Given the description of an element on the screen output the (x, y) to click on. 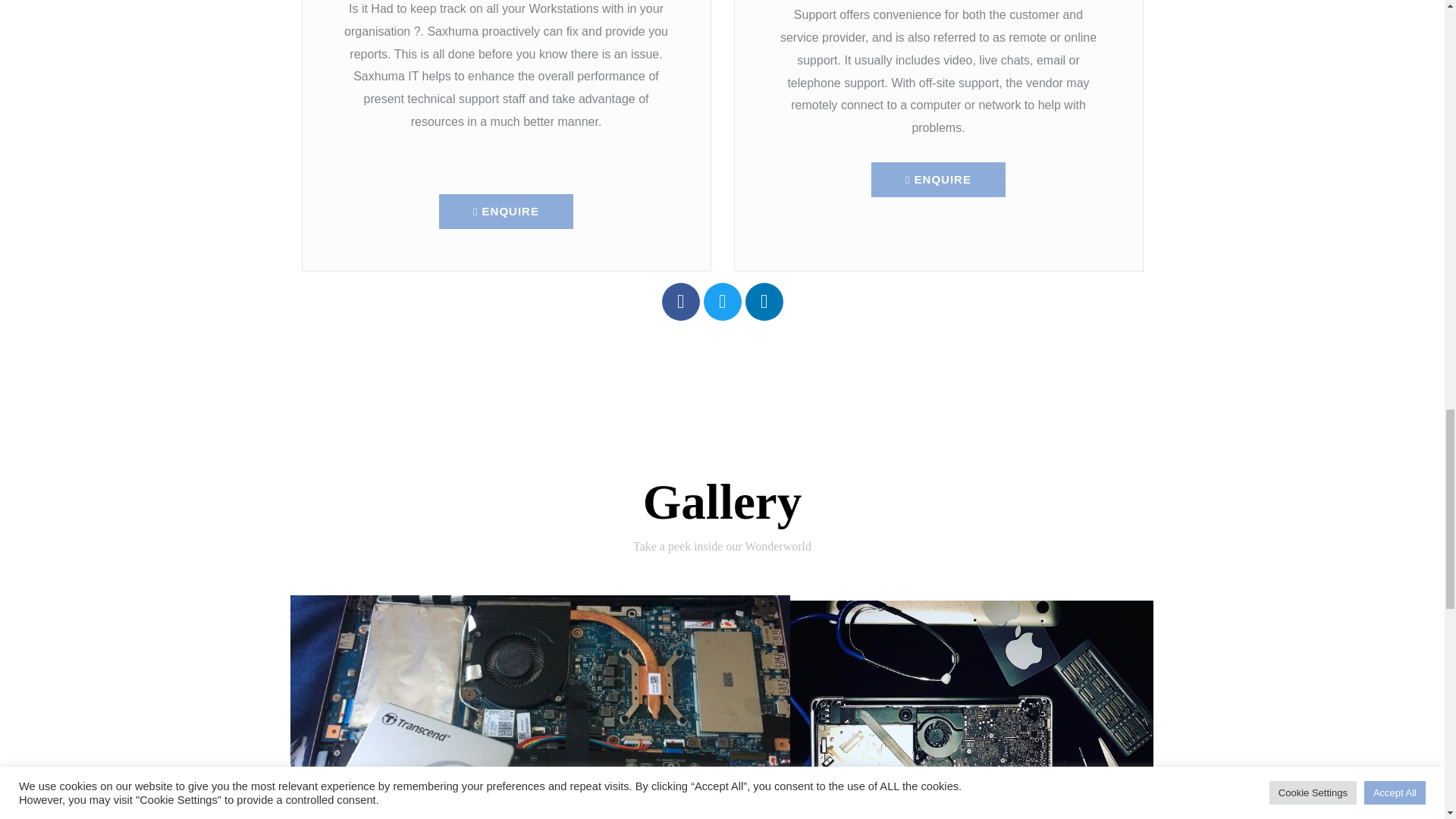
Linkedin (763, 300)
ENQUIRE (938, 179)
Twitter (722, 300)
ENQUIRE (506, 211)
Computer support and services (971, 709)
Facebook (679, 300)
